Given the description of an element on the screen output the (x, y) to click on. 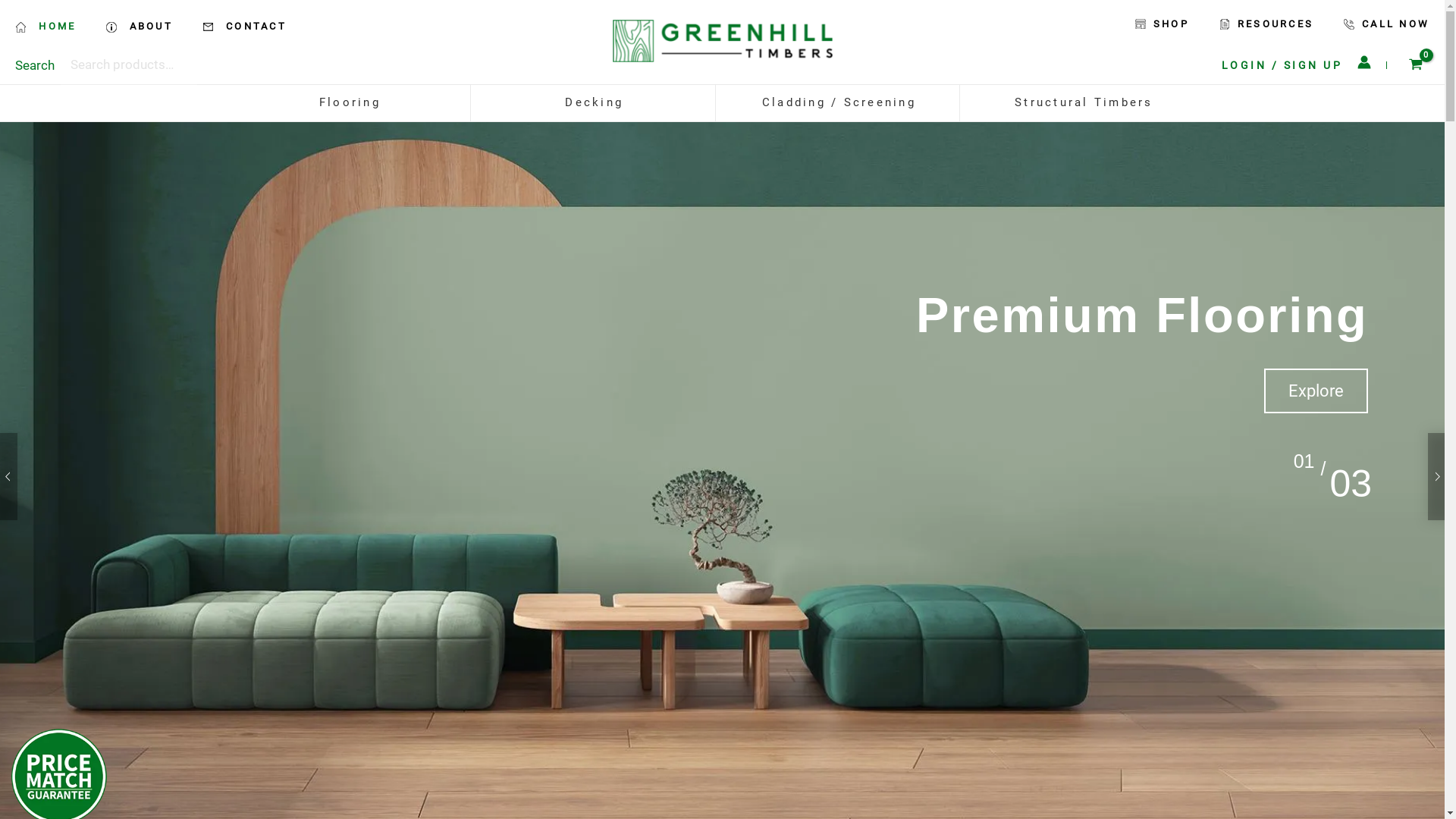
Structural Timbers Element type: text (1083, 102)
LOGIN / SIGN UP Element type: text (1282, 65)
CALL NOW Element type: text (1379, 23)
HOME Element type: text (53, 26)
Explore Element type: text (1316, 390)
SHOP Element type: text (1161, 23)
CONTACT Element type: text (244, 26)
Cladding / Screening Element type: text (839, 102)
Search Element type: text (34, 65)
RESOURCES Element type: text (1265, 23)
ABOUT Element type: text (139, 26)
Flooring Element type: text (349, 102)
Decking Element type: text (594, 102)
